Given the description of an element on the screen output the (x, y) to click on. 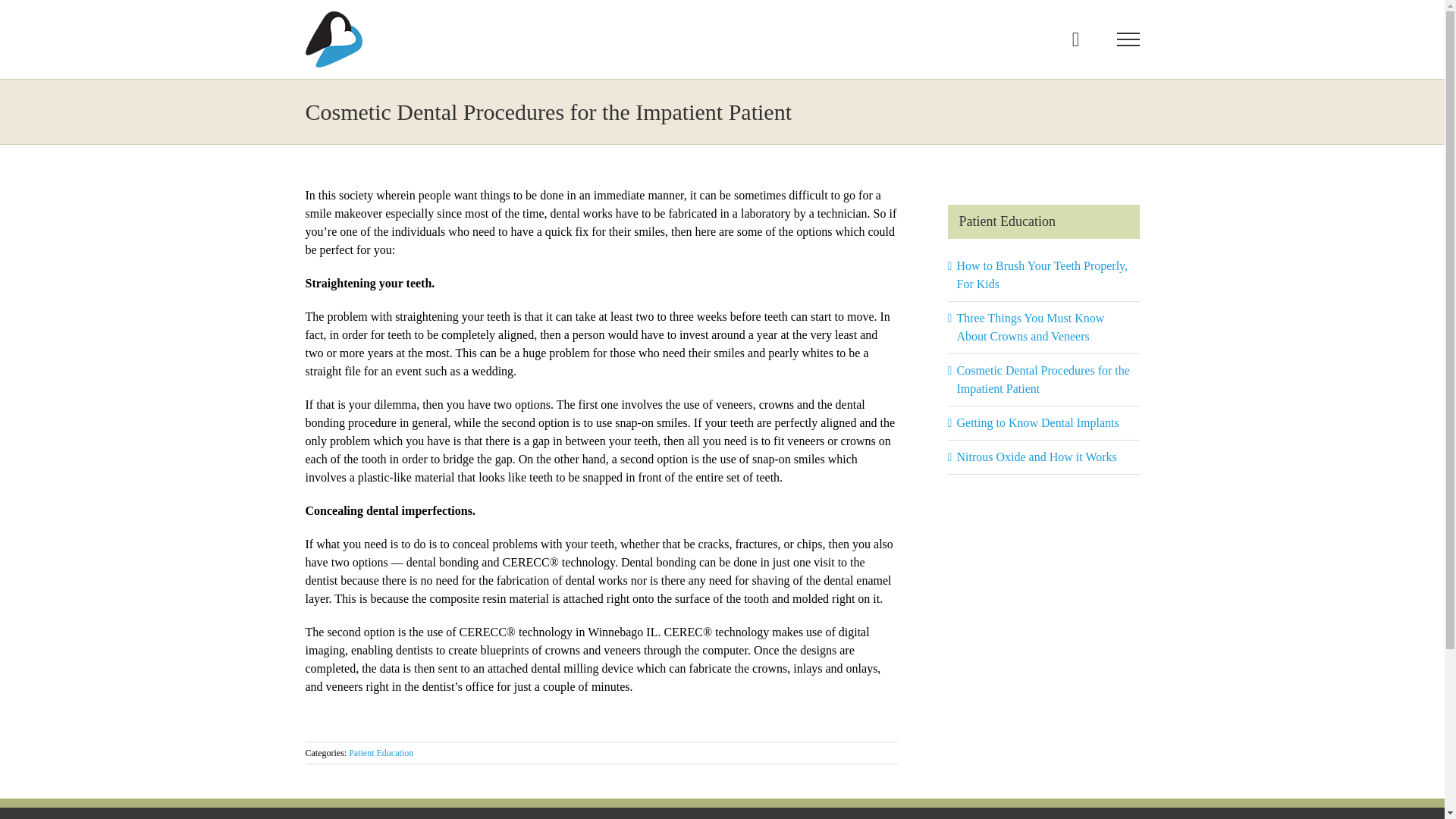
How to Brush Your Teeth Properly, For Kids (1042, 274)
Three Things You Must Know About Crowns and Veneers (1030, 327)
Nitrous Oxide and How it Works (1036, 456)
Patient Education (381, 752)
Cosmetic Dental Procedures for the Impatient Patient (1042, 378)
Getting to Know Dental Implants (1037, 422)
